Given the description of an element on the screen output the (x, y) to click on. 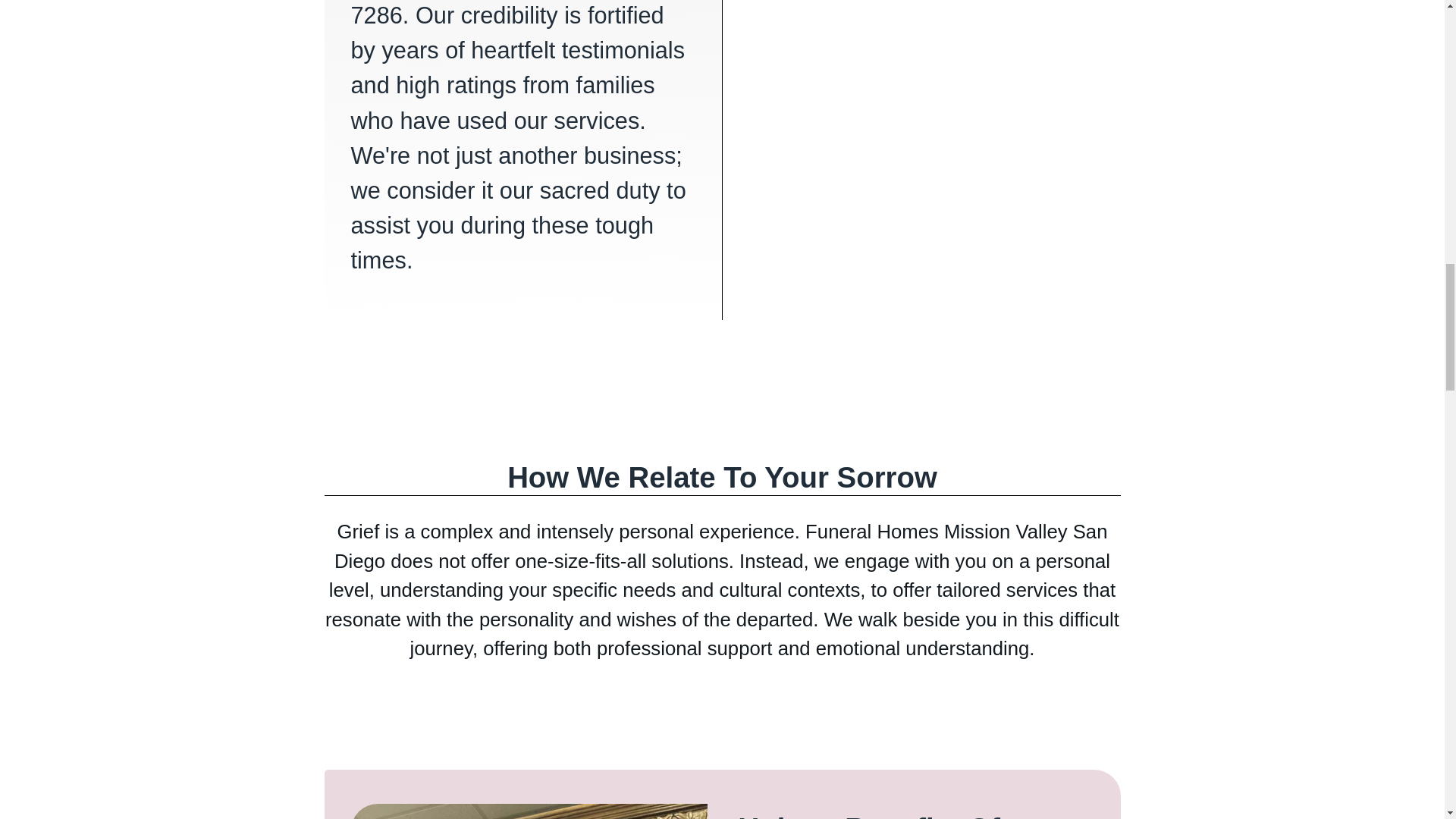
Funeral Homes Mission Valley San Diego (528, 811)
